Given the description of an element on the screen output the (x, y) to click on. 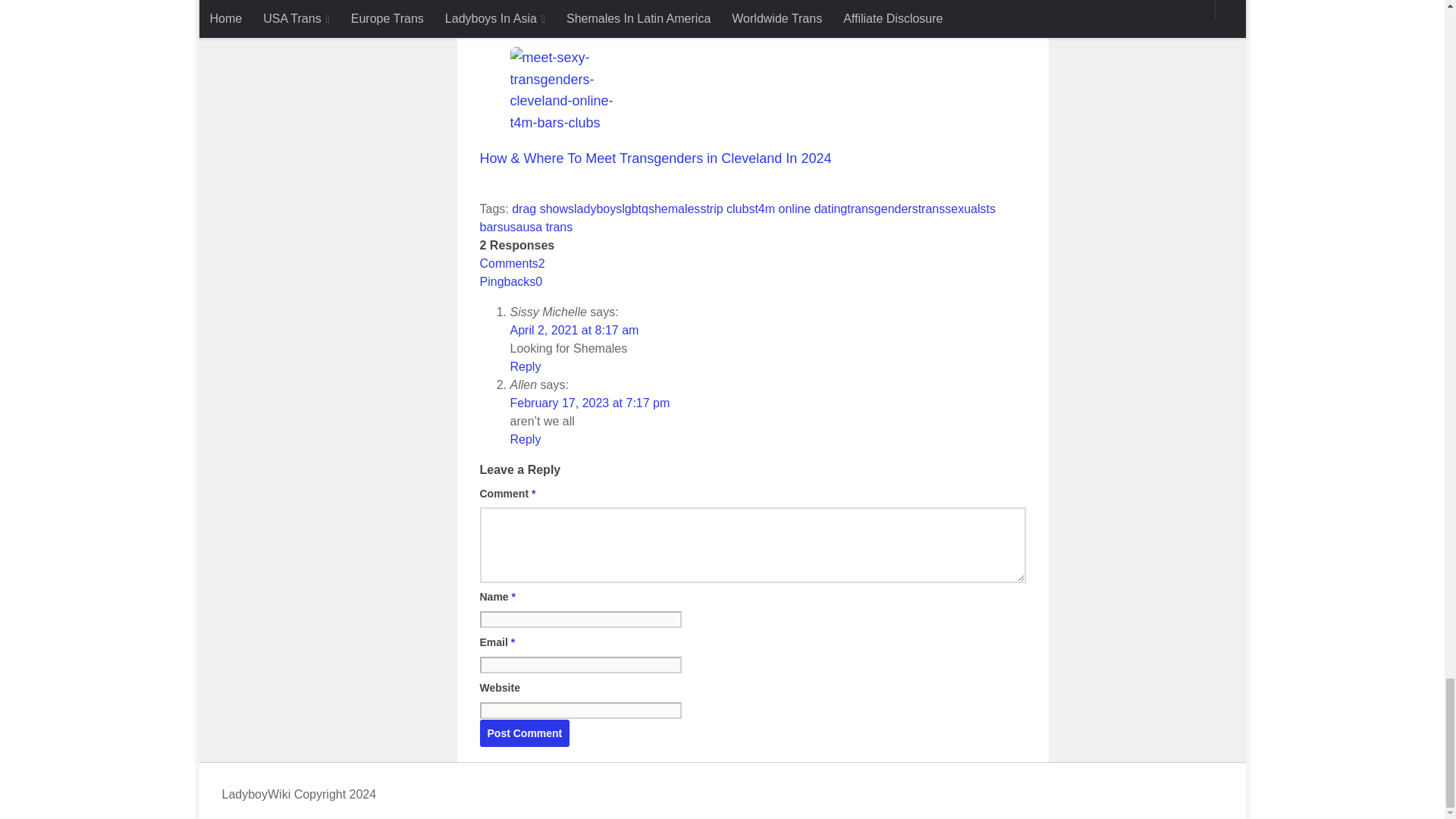
Post Comment (524, 732)
